Given the description of an element on the screen output the (x, y) to click on. 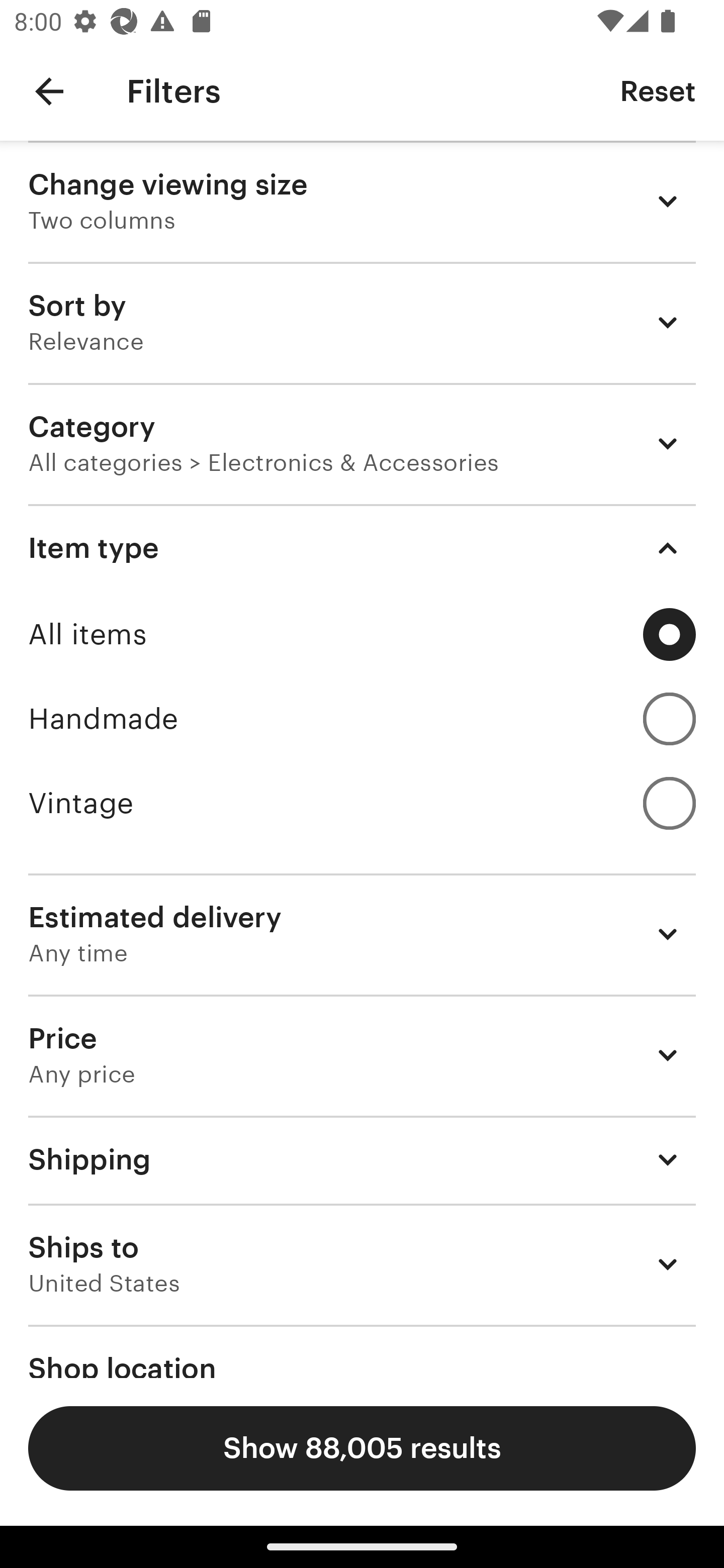
Navigate up (49, 91)
Reset (657, 90)
Change viewing size Two columns (362, 201)
Sort by Relevance (362, 321)
Item type (362, 547)
All items (362, 633)
Handmade (362, 717)
Vintage (362, 802)
Estimated delivery Any time (362, 933)
Price Any price (362, 1055)
Shipping (362, 1160)
Ships to United States (362, 1264)
Shop location (362, 1351)
Show 88,005 results Show results (361, 1448)
